Given the description of an element on the screen output the (x, y) to click on. 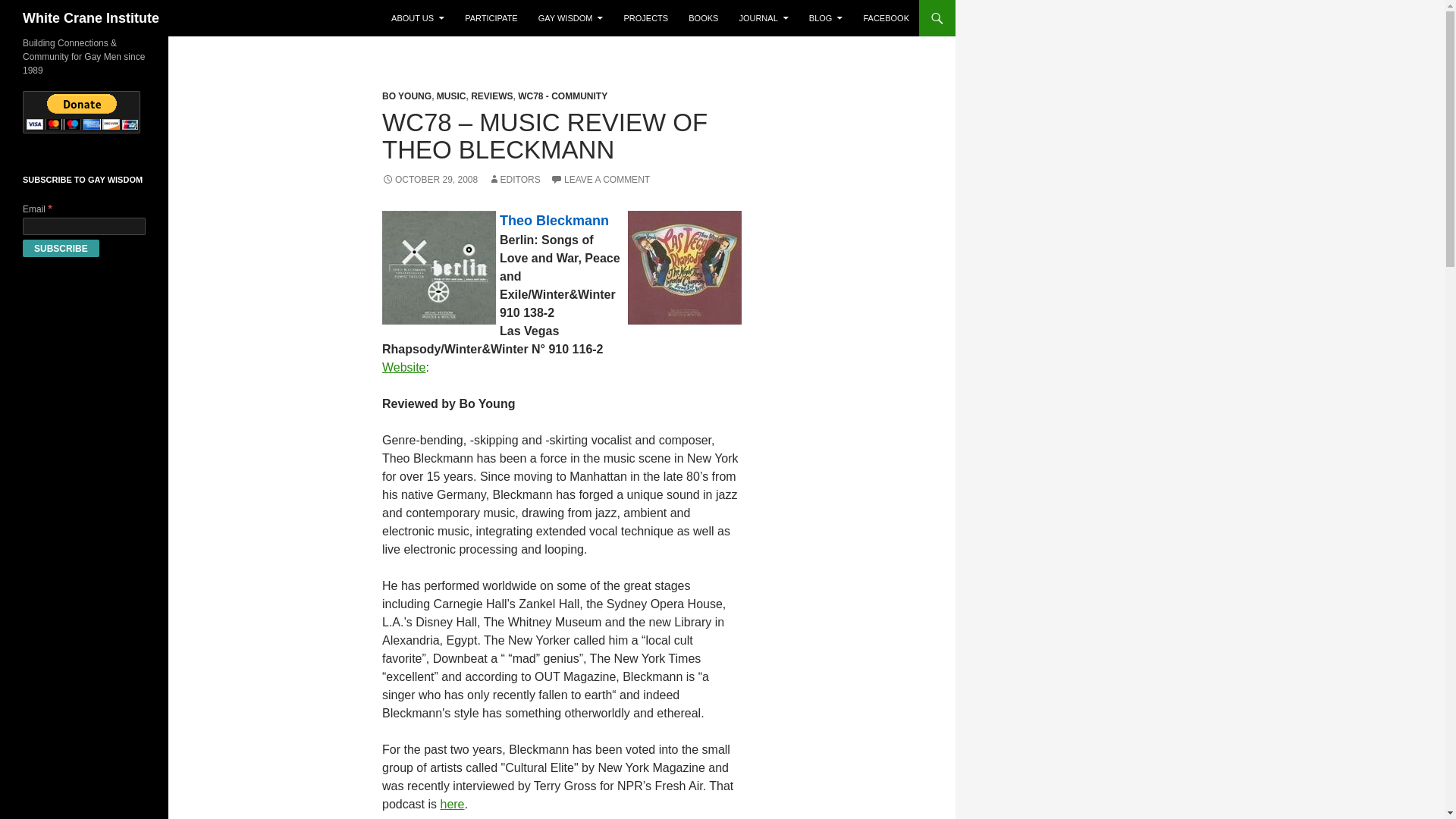
BOOKS (702, 18)
PROJECTS (645, 18)
Subscribe (61, 248)
ABOUT US (416, 18)
FACEBOOK (885, 18)
JOURNAL (762, 18)
PARTICIPATE (490, 18)
White Crane Institute (90, 18)
PayPal - The safer, easier way to pay online! (81, 111)
GAY WISDOM (570, 18)
